Given the description of an element on the screen output the (x, y) to click on. 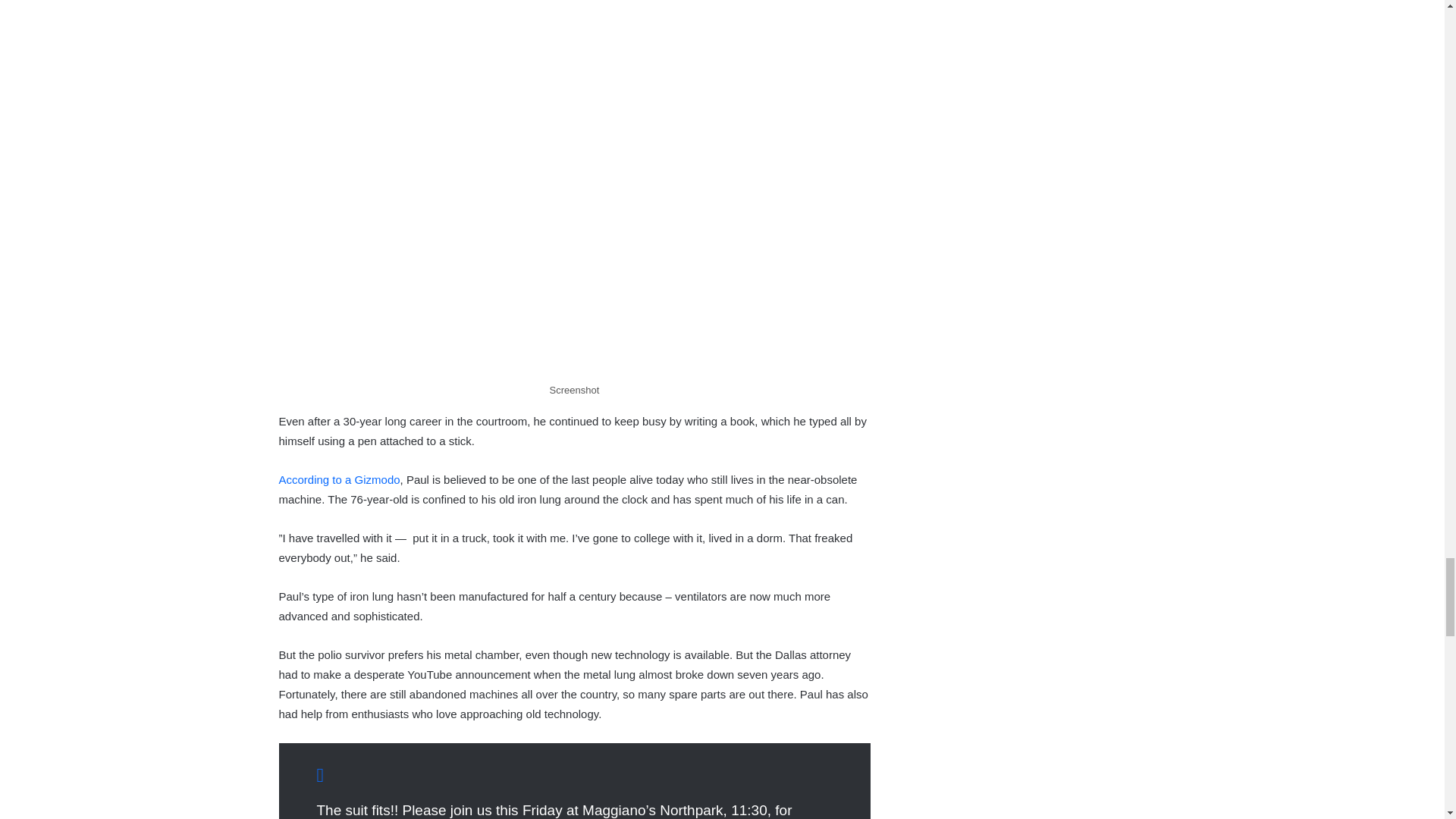
According to a Gizmodo (339, 479)
